Given the description of an element on the screen output the (x, y) to click on. 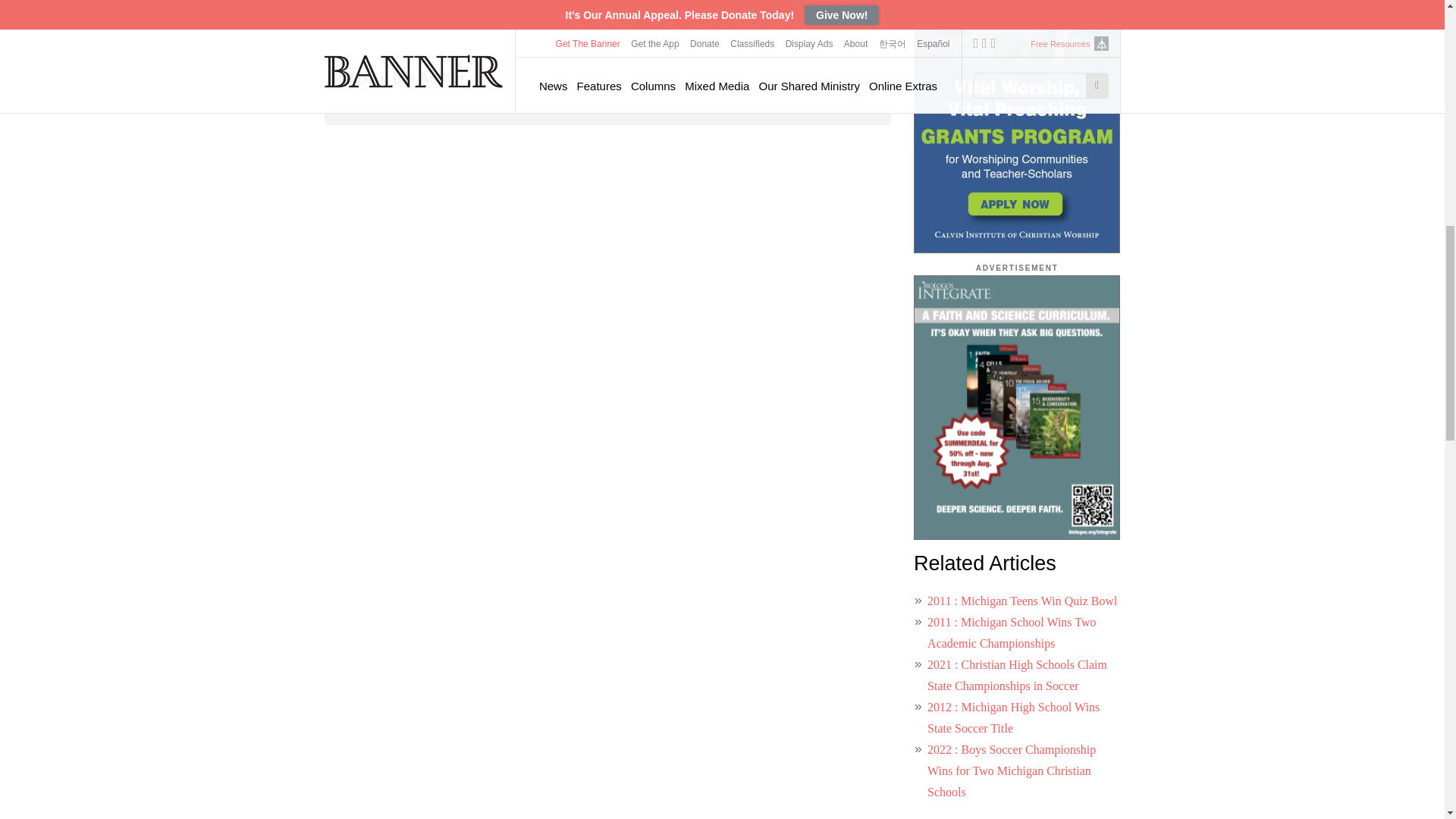
2012 : Michigan High School Wins State Soccer Title (1013, 717)
2011 : Michigan School Wins Two Academic Championships (1011, 632)
2011 : Michigan Teens Win Quiz Bowl (1021, 600)
